Given the description of an element on the screen output the (x, y) to click on. 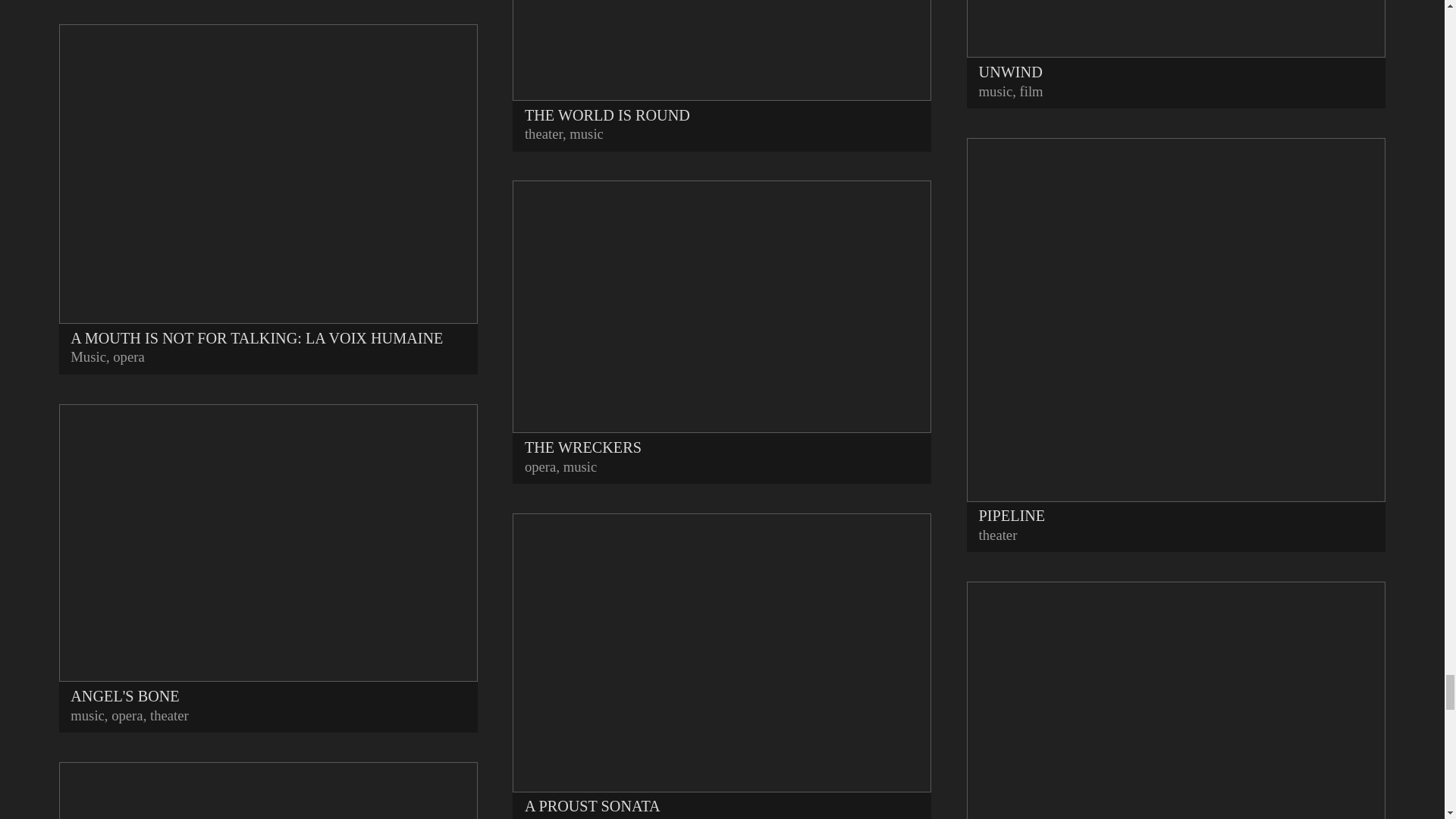
opera (127, 715)
music (86, 715)
theater (169, 715)
Music (87, 356)
opera (128, 356)
ANGEL'S BONE (268, 555)
